Given the description of an element on the screen output the (x, y) to click on. 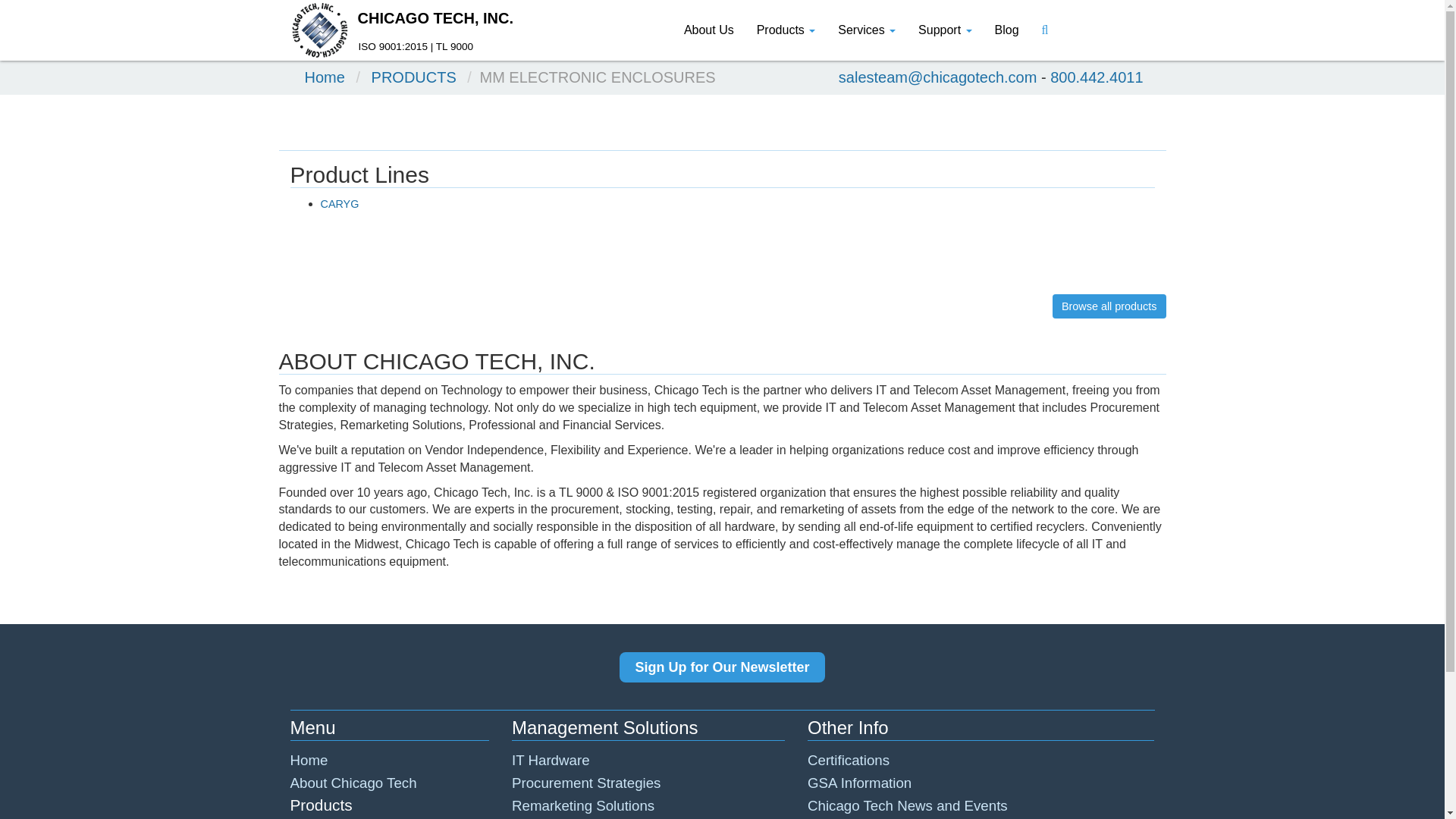
Home (308, 760)
About Chicago Tech (352, 782)
News and Events (907, 805)
Procurement Strategies (586, 782)
GSA Information (859, 782)
CHICAGO TECH, INC. (402, 18)
CARYG (339, 203)
About Us (708, 30)
About Chicago Tech (352, 782)
Home (324, 77)
PRODUCTS (414, 77)
Products (786, 30)
CARYG (339, 203)
Services (867, 30)
